Given the description of an element on the screen output the (x, y) to click on. 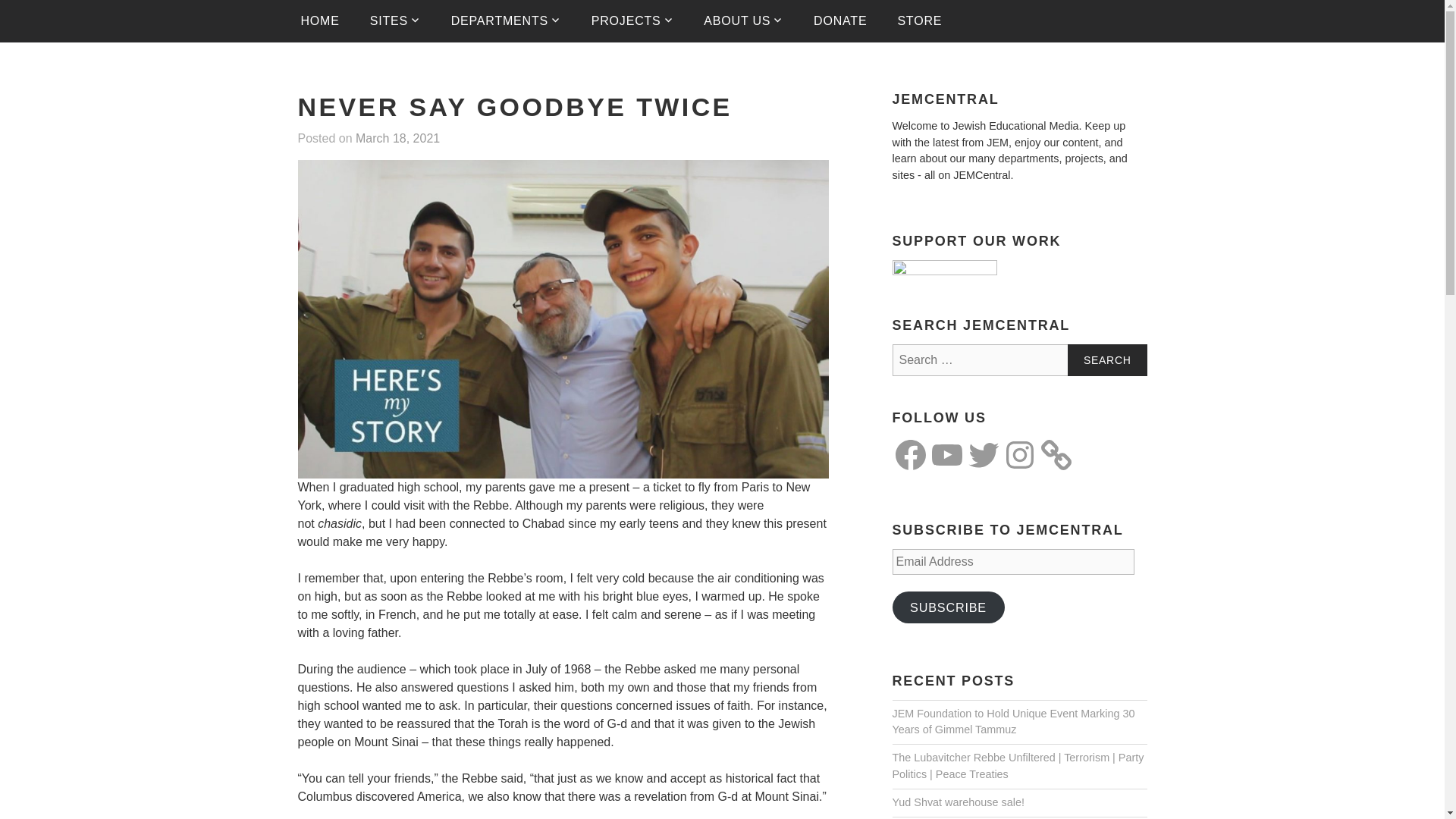
March 18, 2021 (397, 138)
HOME (319, 21)
STORE (919, 21)
Search (1107, 359)
PROJECTS (632, 21)
ABOUT US (742, 21)
DONATE (839, 21)
SITES (395, 21)
DEPARTMENTS (505, 21)
Search (1107, 359)
